Given the description of an element on the screen output the (x, y) to click on. 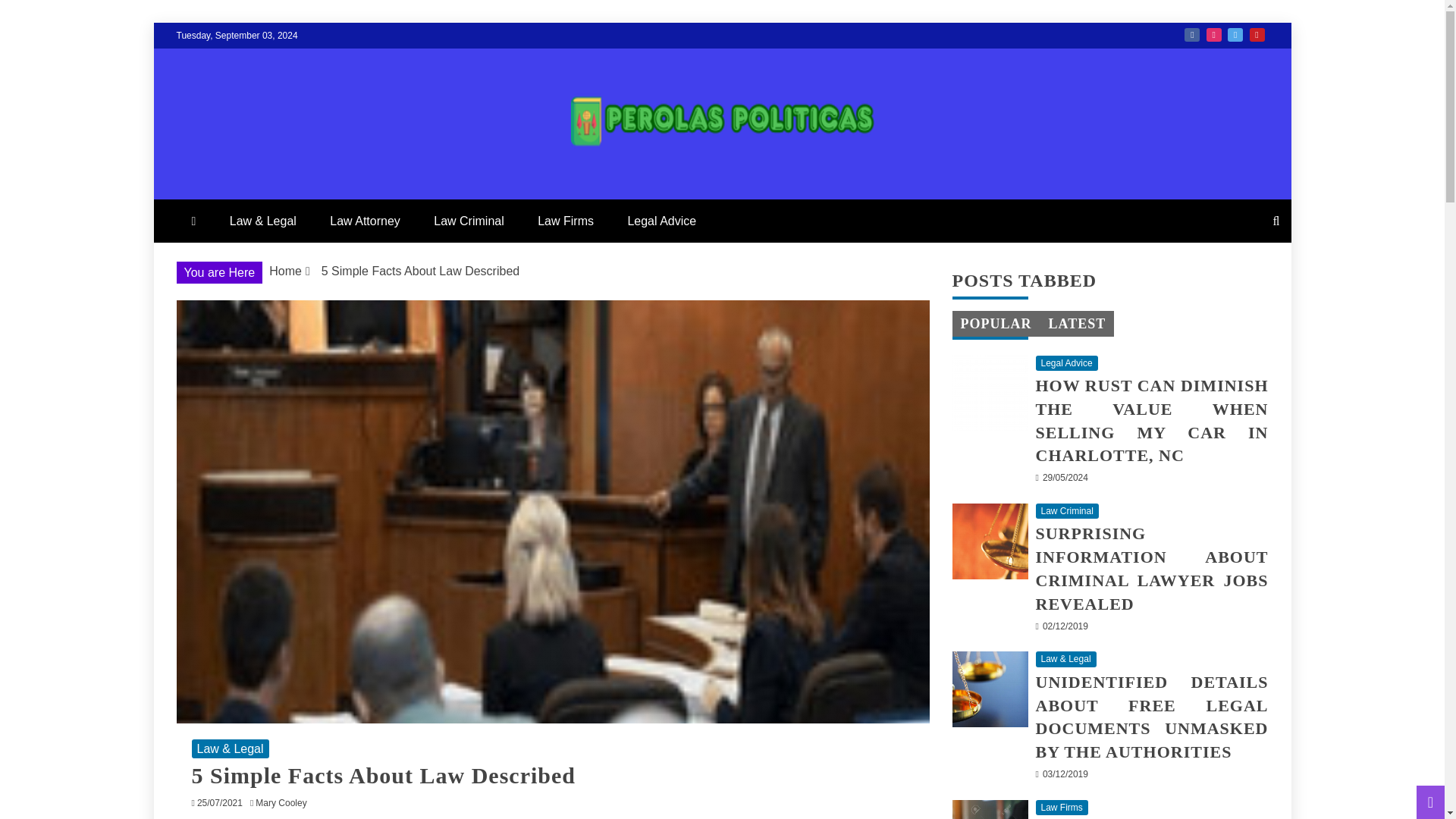
Law Criminal (468, 220)
Mary Cooley (285, 802)
PEROLAS POLITICAS (381, 183)
LATEST (1076, 323)
Surprising Information About Criminal Lawyer Jobs Revealed (989, 541)
Pinterest (1257, 34)
Law Firms (565, 220)
POPULAR (994, 323)
The Unusual Mystery Into Law Firm Administrator Uncovered (989, 809)
